Given the description of an element on the screen output the (x, y) to click on. 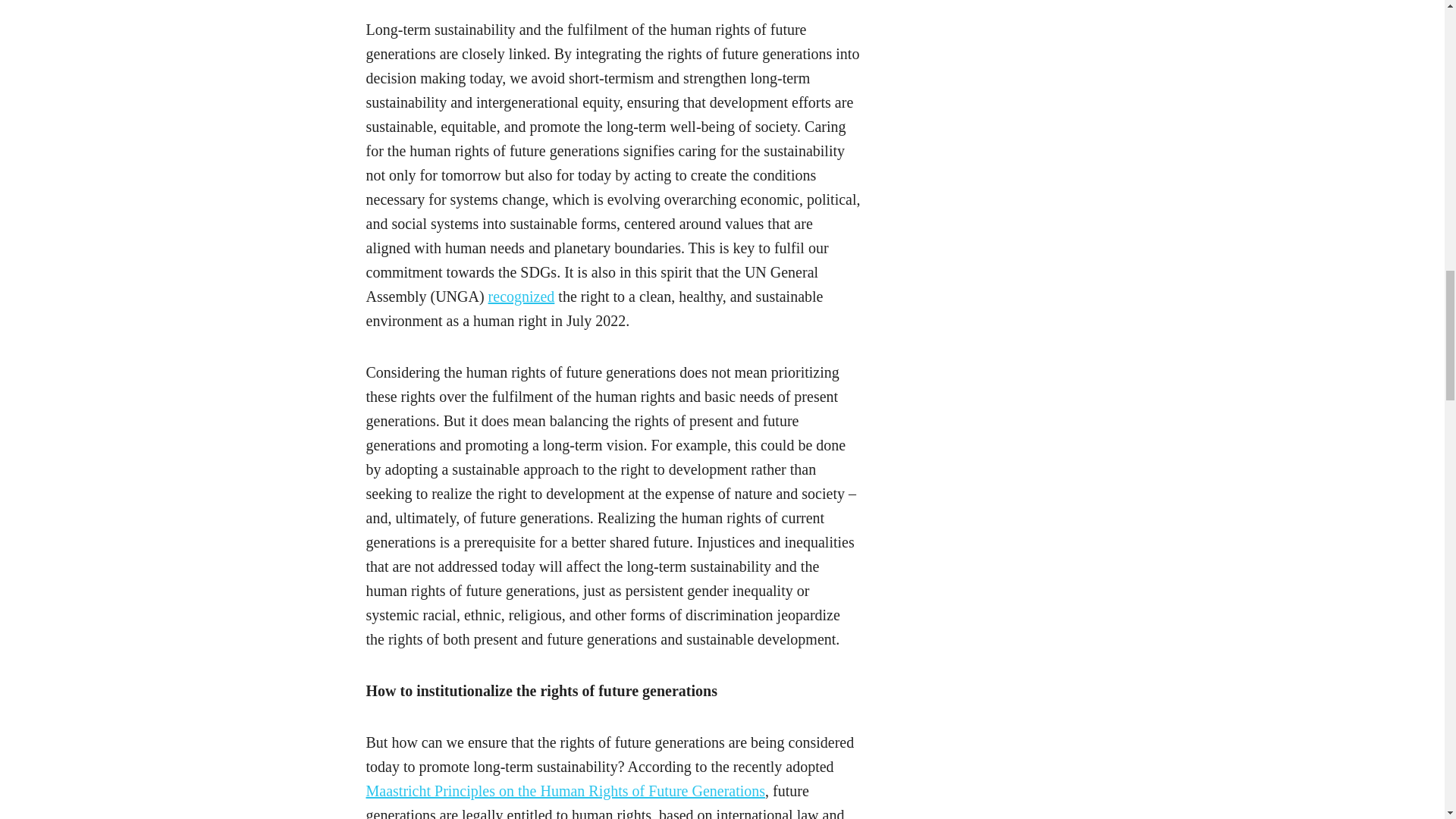
recognized (520, 296)
